Given the description of an element on the screen output the (x, y) to click on. 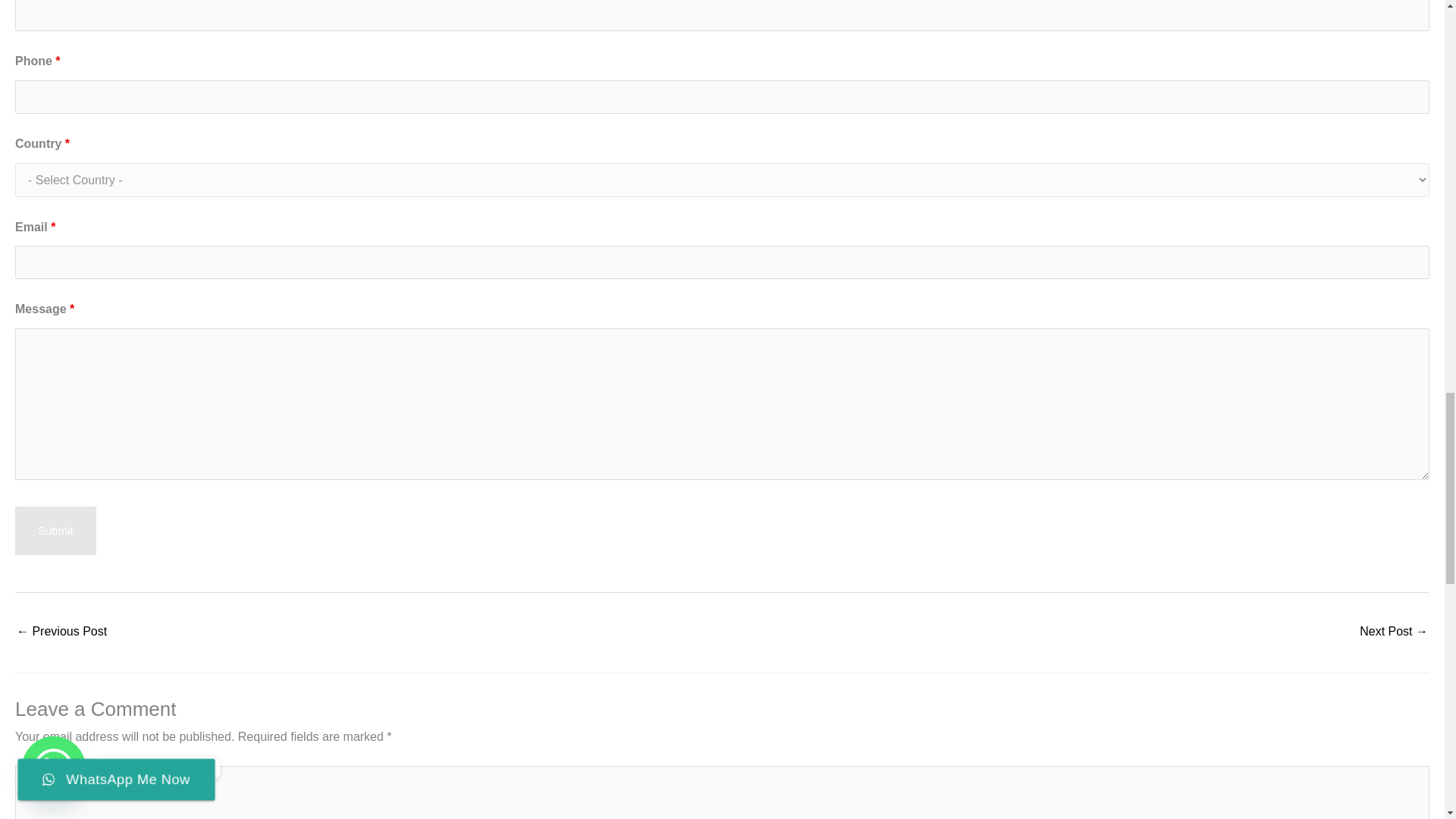
Submit (55, 530)
Wealth spells that really work (61, 633)
